Given the description of an element on the screen output the (x, y) to click on. 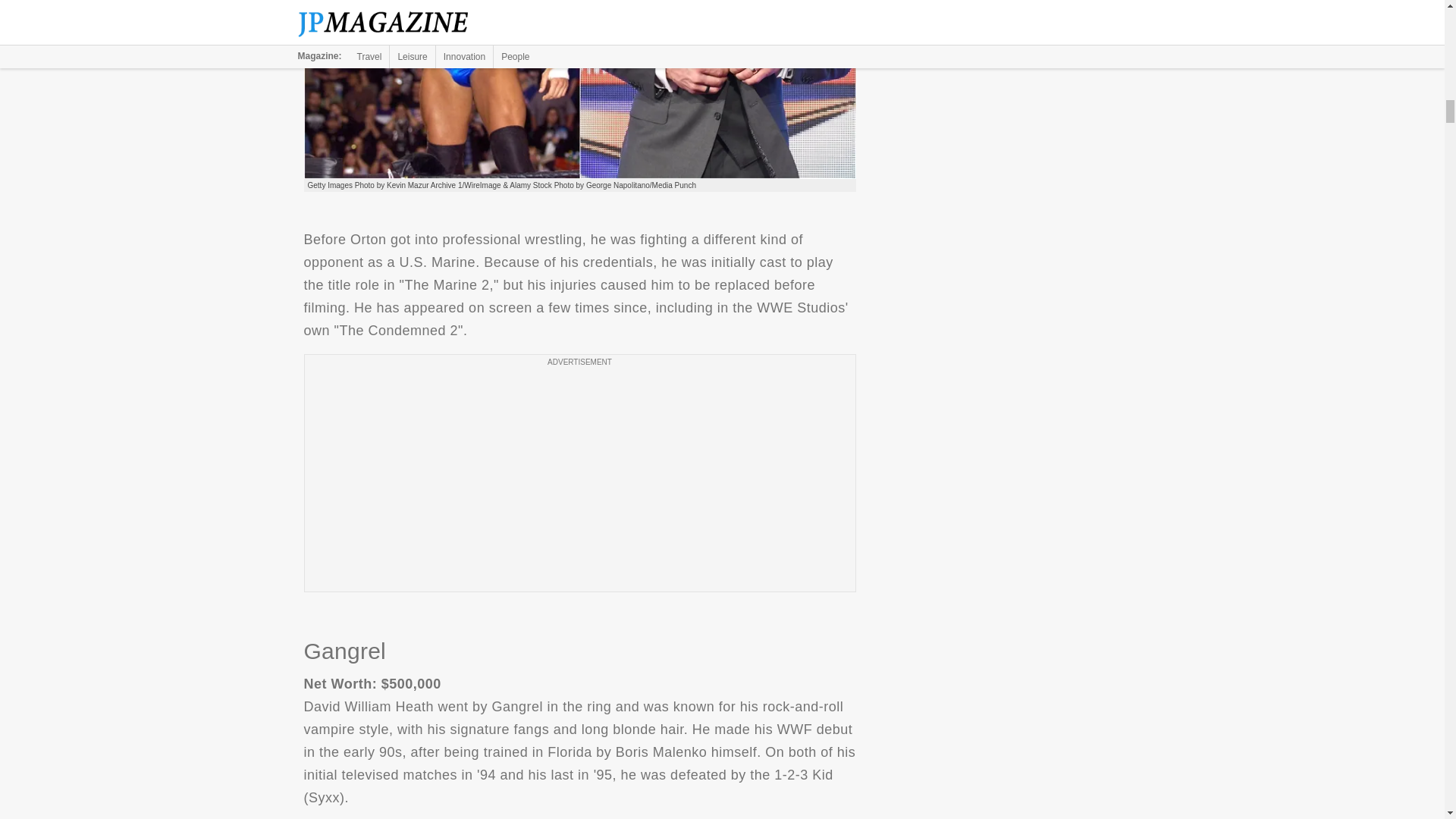
Randy Orton (579, 89)
